Given the description of an element on the screen output the (x, y) to click on. 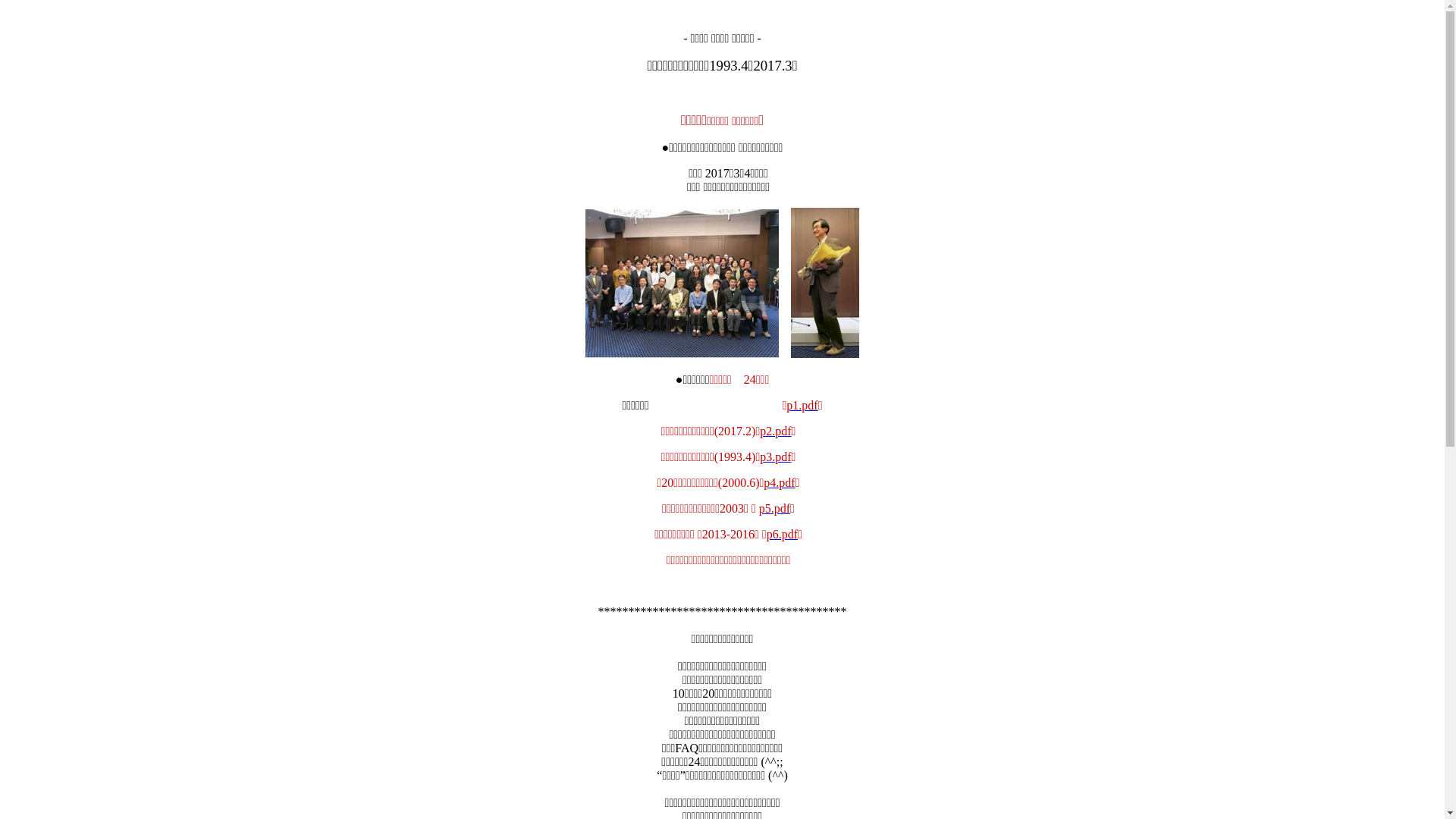
p1.pdf Element type: text (801, 404)
p5.pdf Element type: text (774, 508)
p2.pdf Element type: text (774, 430)
p6.pdf Element type: text (781, 533)
p4.pdf Element type: text (778, 482)
p3.pdf Element type: text (774, 456)
